Given the description of an element on the screen output the (x, y) to click on. 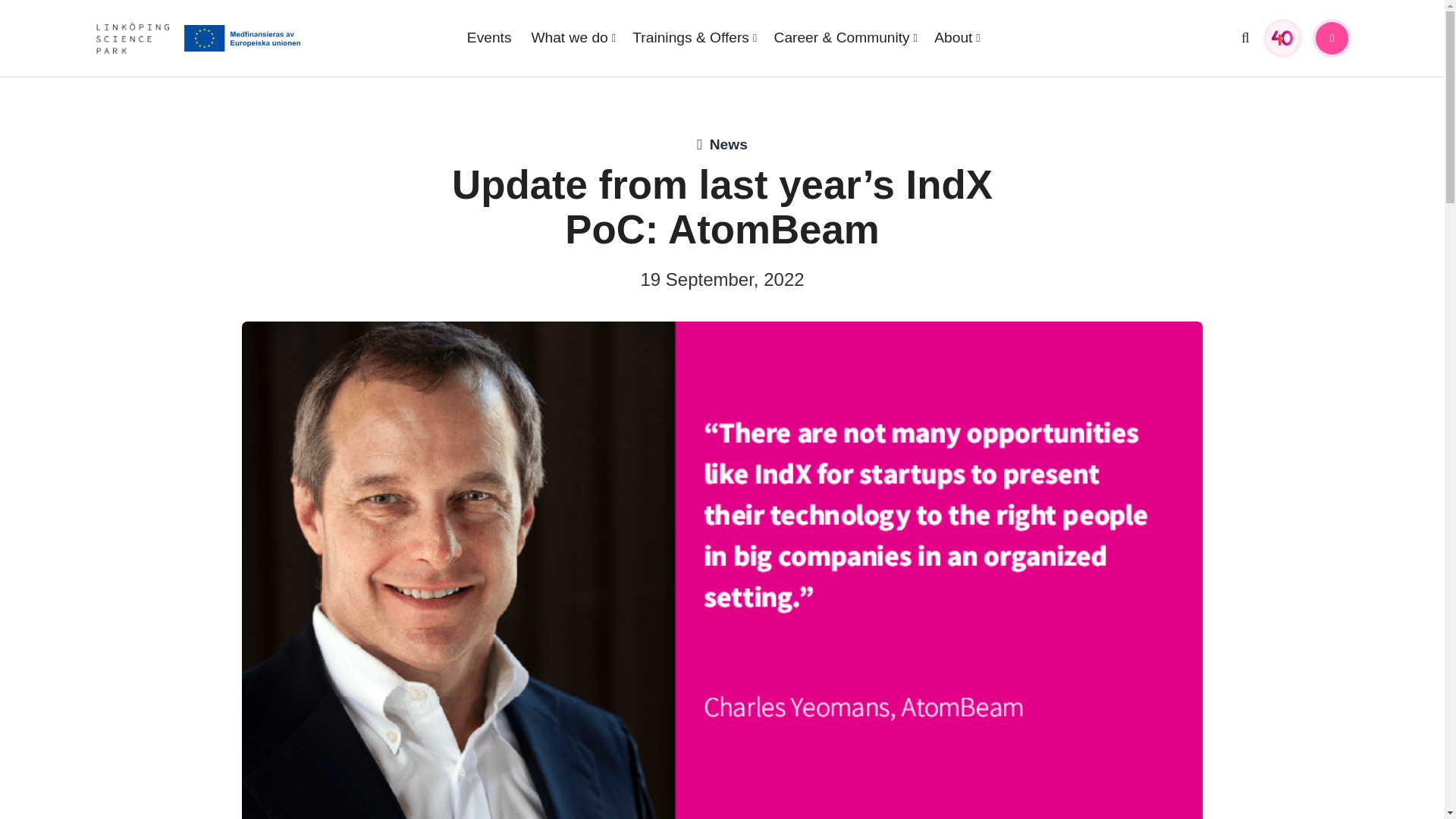
What we do (572, 37)
40 years anniversary (1282, 38)
